Given the description of an element on the screen output the (x, y) to click on. 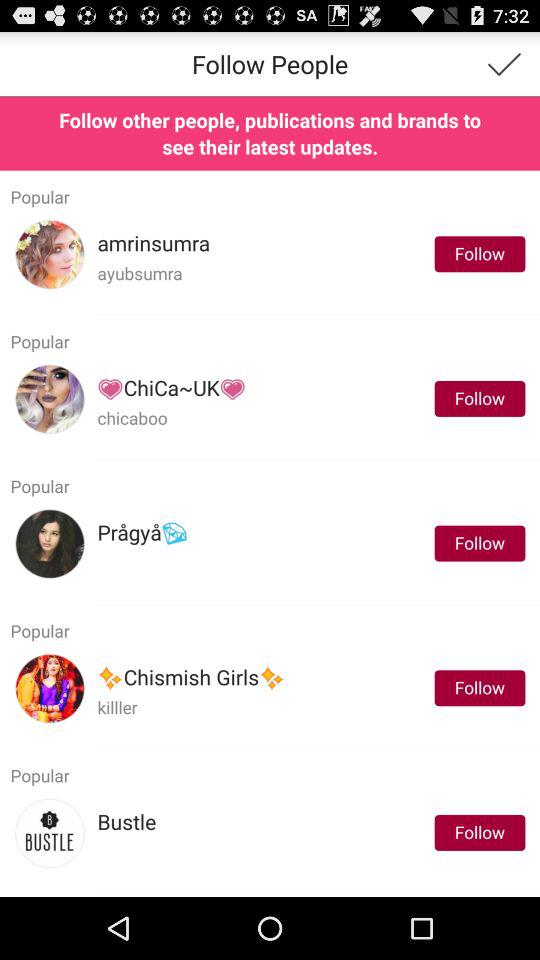
open icon below the popular item (191, 677)
